Given the description of an element on the screen output the (x, y) to click on. 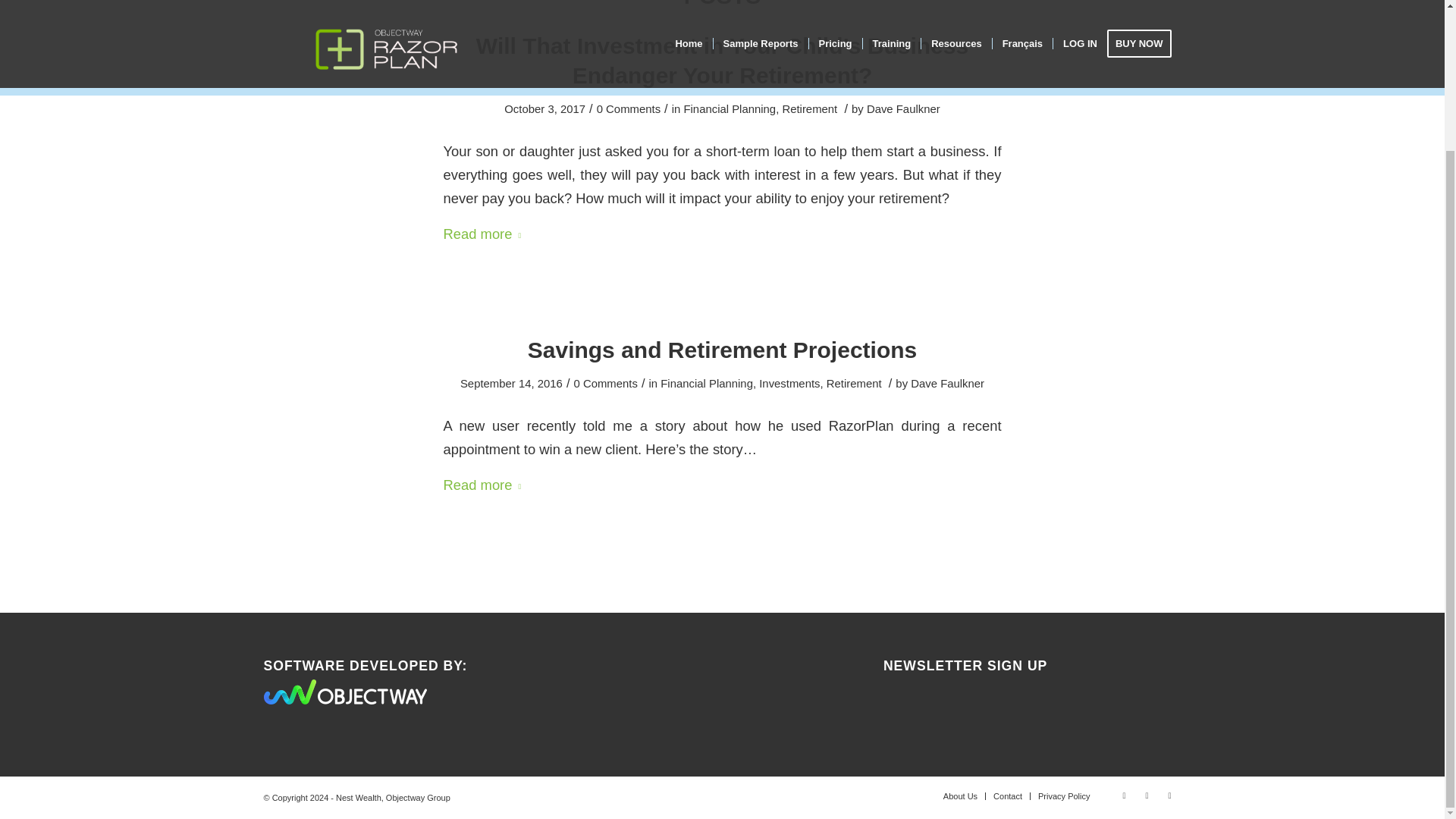
Financial Planning (706, 383)
0 Comments (605, 383)
Permanent Link: Savings and Retirement Projections (722, 349)
Retirement (809, 109)
Posts by Dave Faulkner (903, 109)
Posts by Dave Faulkner (947, 383)
Dave Faulkner (947, 383)
Contact (1007, 795)
Read more (484, 485)
Financial Planning (729, 109)
